Given the description of an element on the screen output the (x, y) to click on. 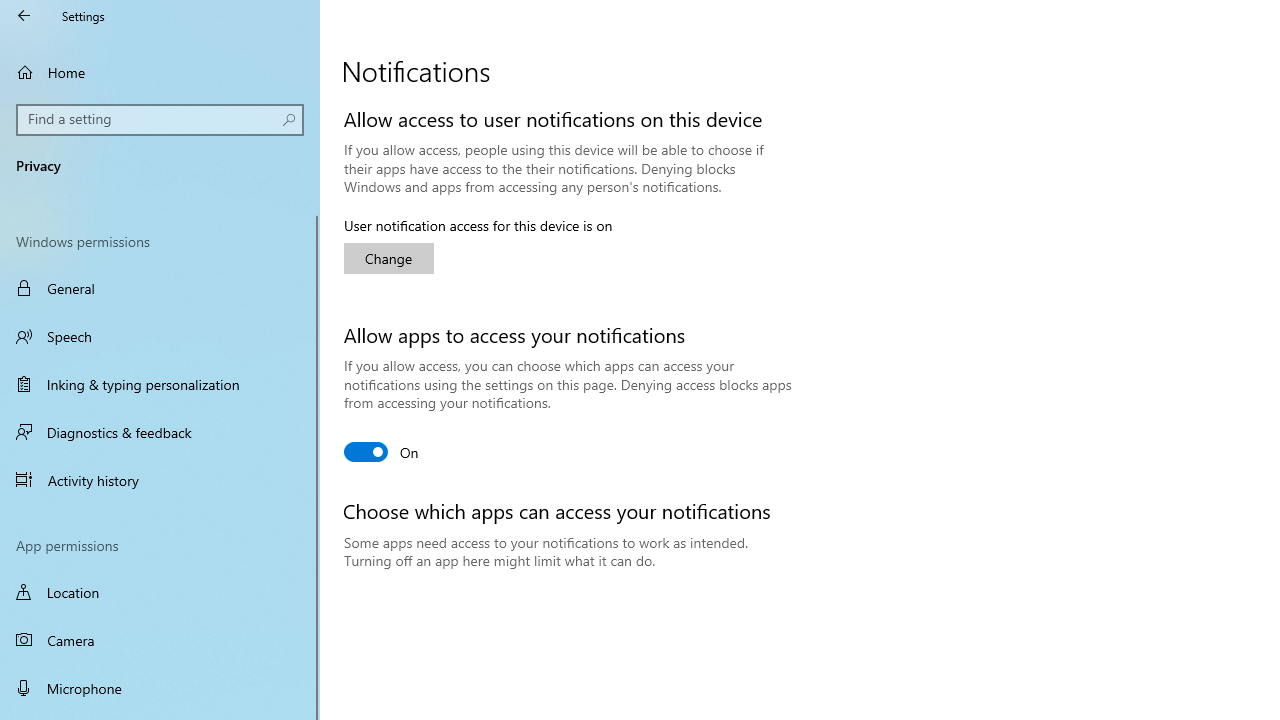
Allow apps to access your notifications (381, 452)
Change (388, 258)
Microphone (160, 687)
Inking & typing personalization (160, 384)
Location (160, 592)
Speech (160, 335)
General (160, 287)
Activity history (160, 479)
Diagnostics & feedback (160, 431)
Camera (160, 639)
